Given the description of an element on the screen output the (x, y) to click on. 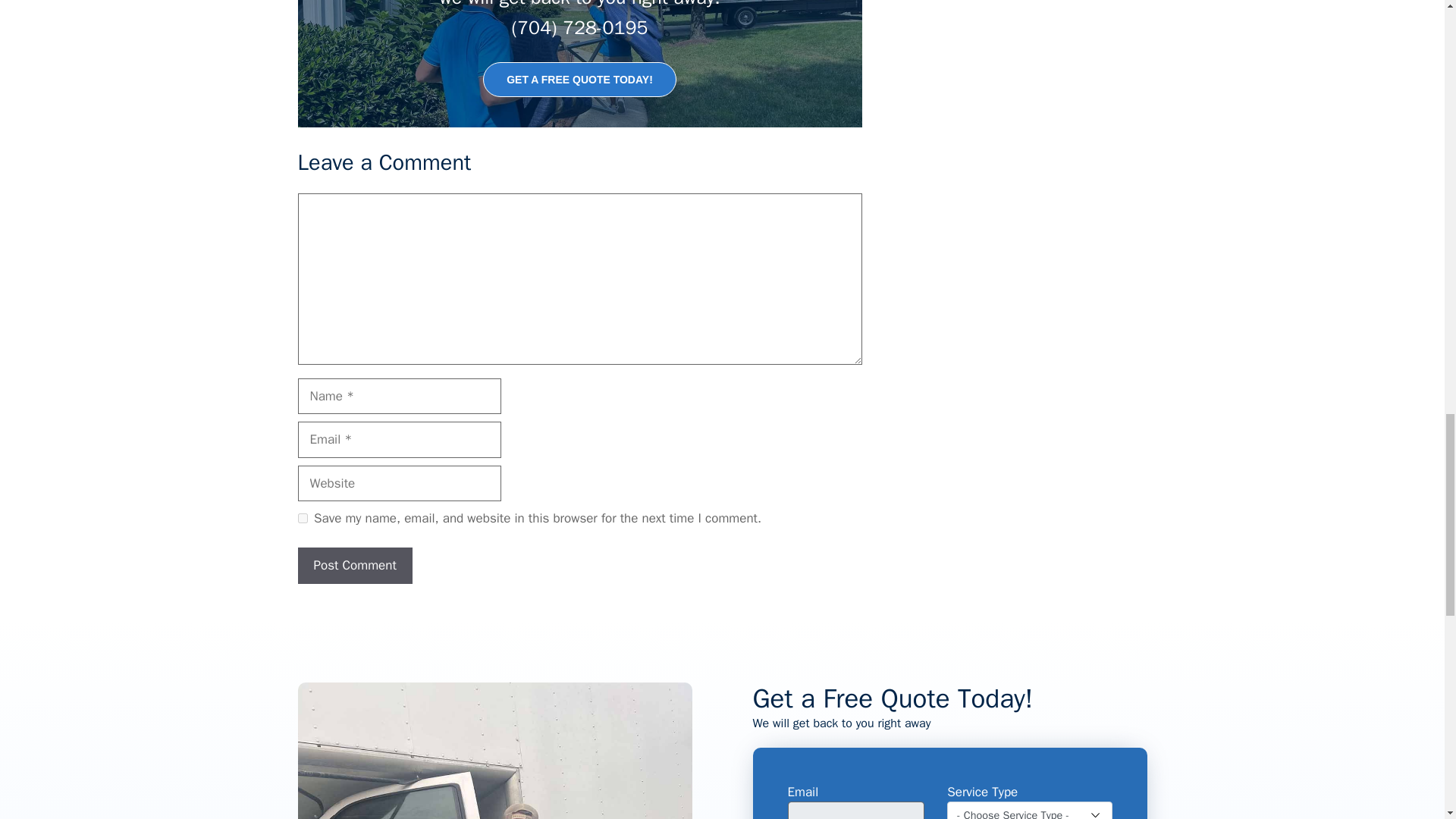
yes (302, 518)
Post Comment (354, 565)
